Given the description of an element on the screen output the (x, y) to click on. 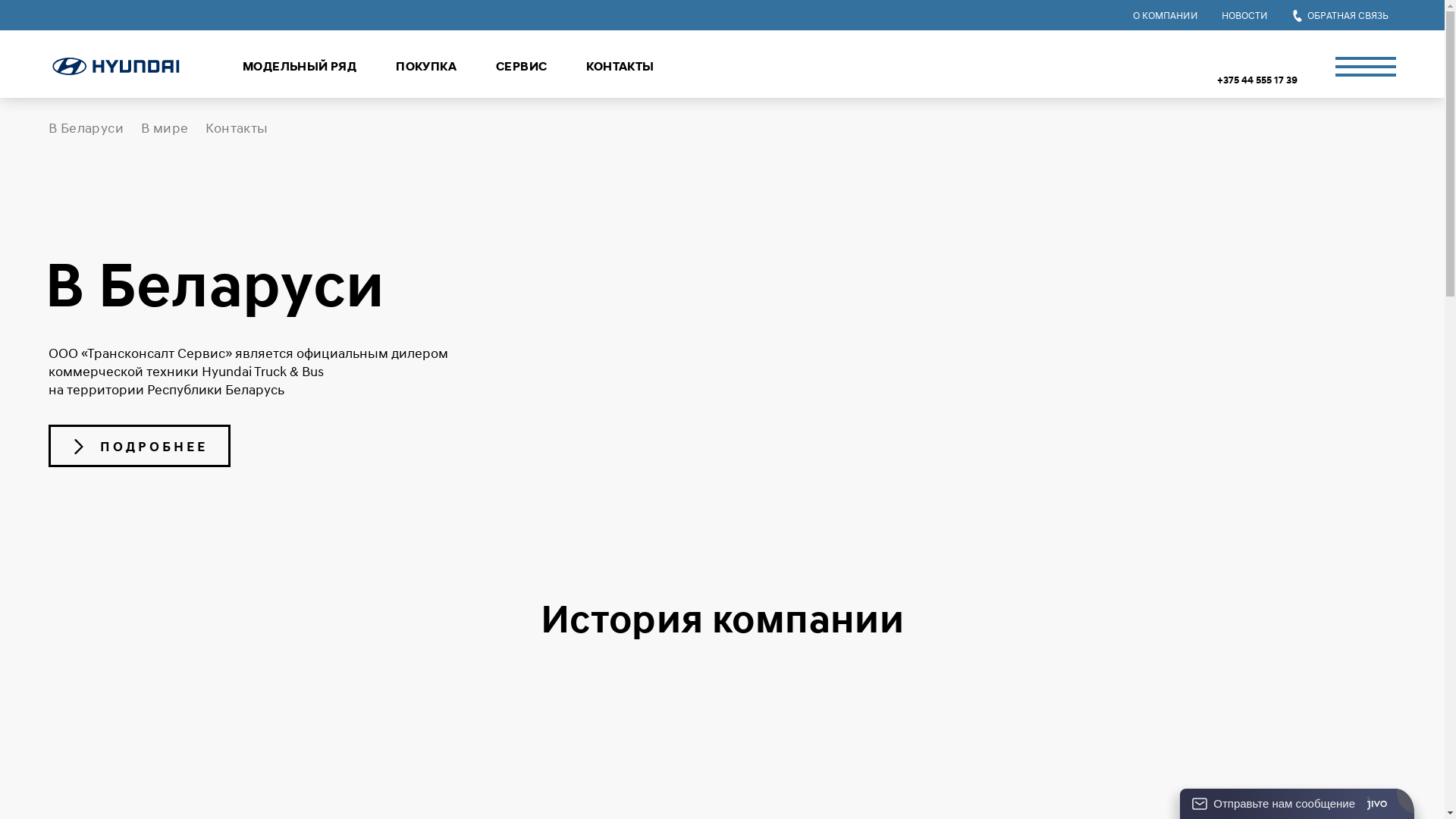
+375 44 555 17 39 Element type: text (1257, 79)
